Given the description of an element on the screen output the (x, y) to click on. 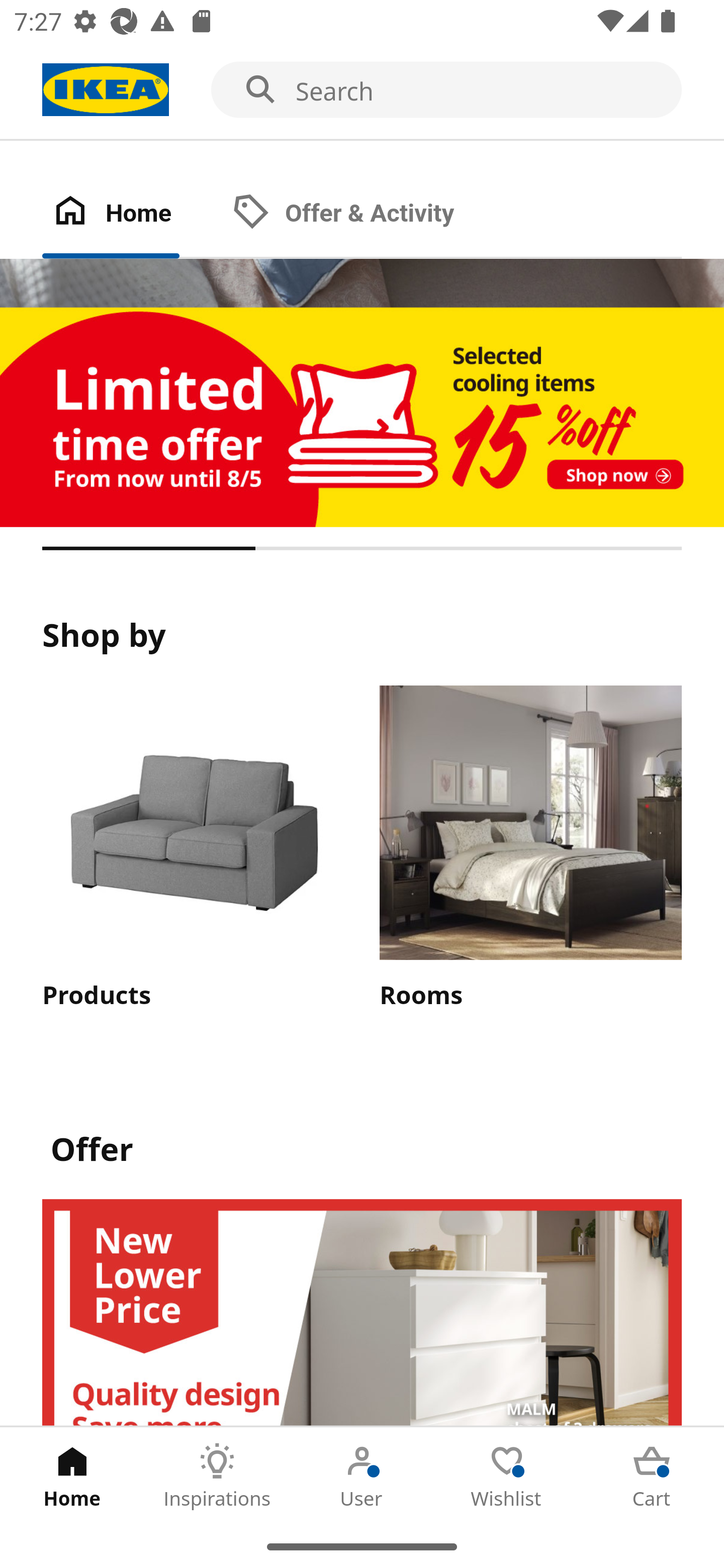
Search (361, 90)
Home
Tab 1 of 2 (131, 213)
Offer & Activity
Tab 2 of 2 (363, 213)
Products (192, 848)
Rooms (530, 848)
Home
Tab 1 of 5 (72, 1476)
Inspirations
Tab 2 of 5 (216, 1476)
User
Tab 3 of 5 (361, 1476)
Wishlist
Tab 4 of 5 (506, 1476)
Cart
Tab 5 of 5 (651, 1476)
